Given the description of an element on the screen output the (x, y) to click on. 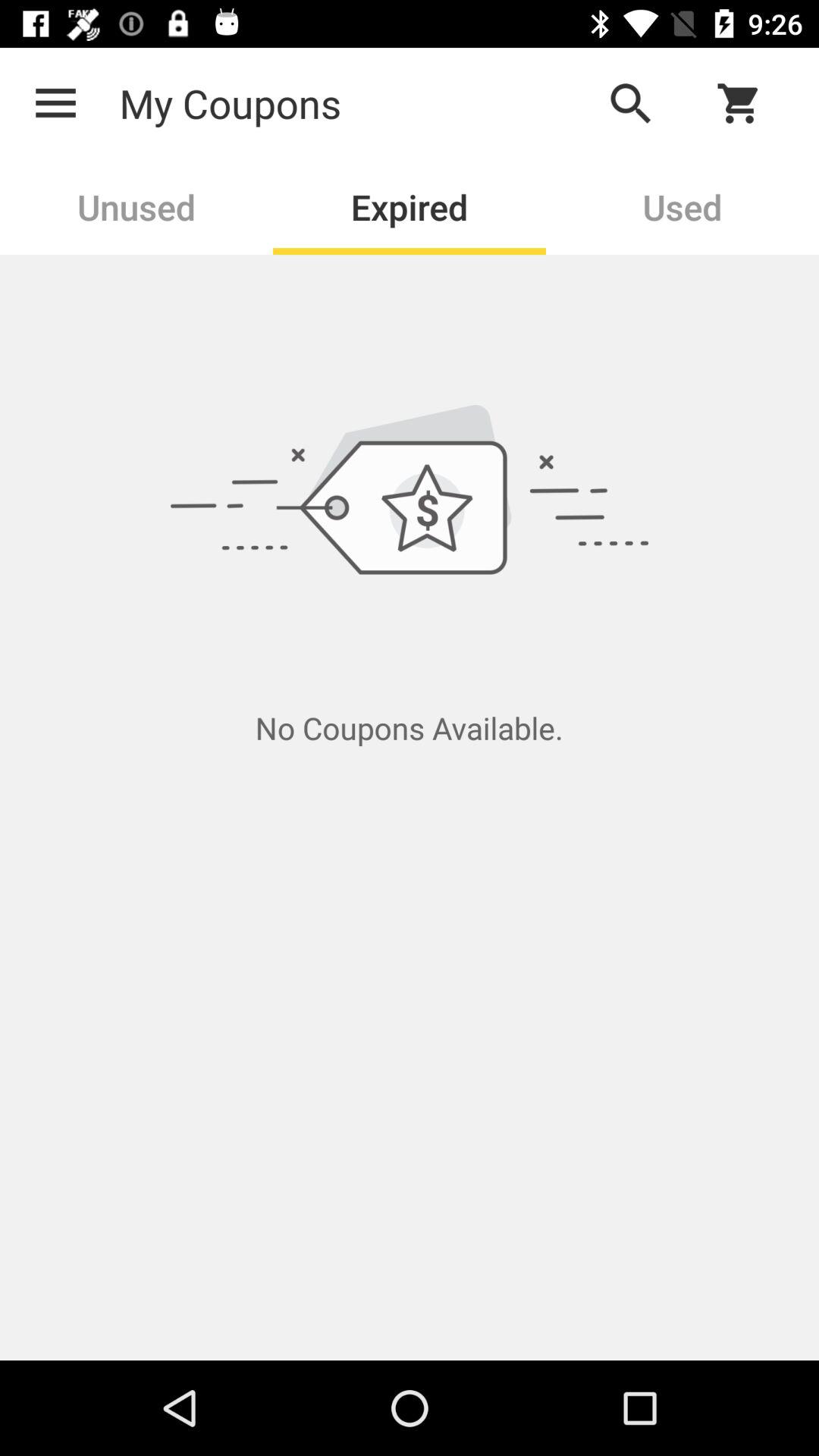
tap icon next to the my coupons icon (55, 103)
